Given the description of an element on the screen output the (x, y) to click on. 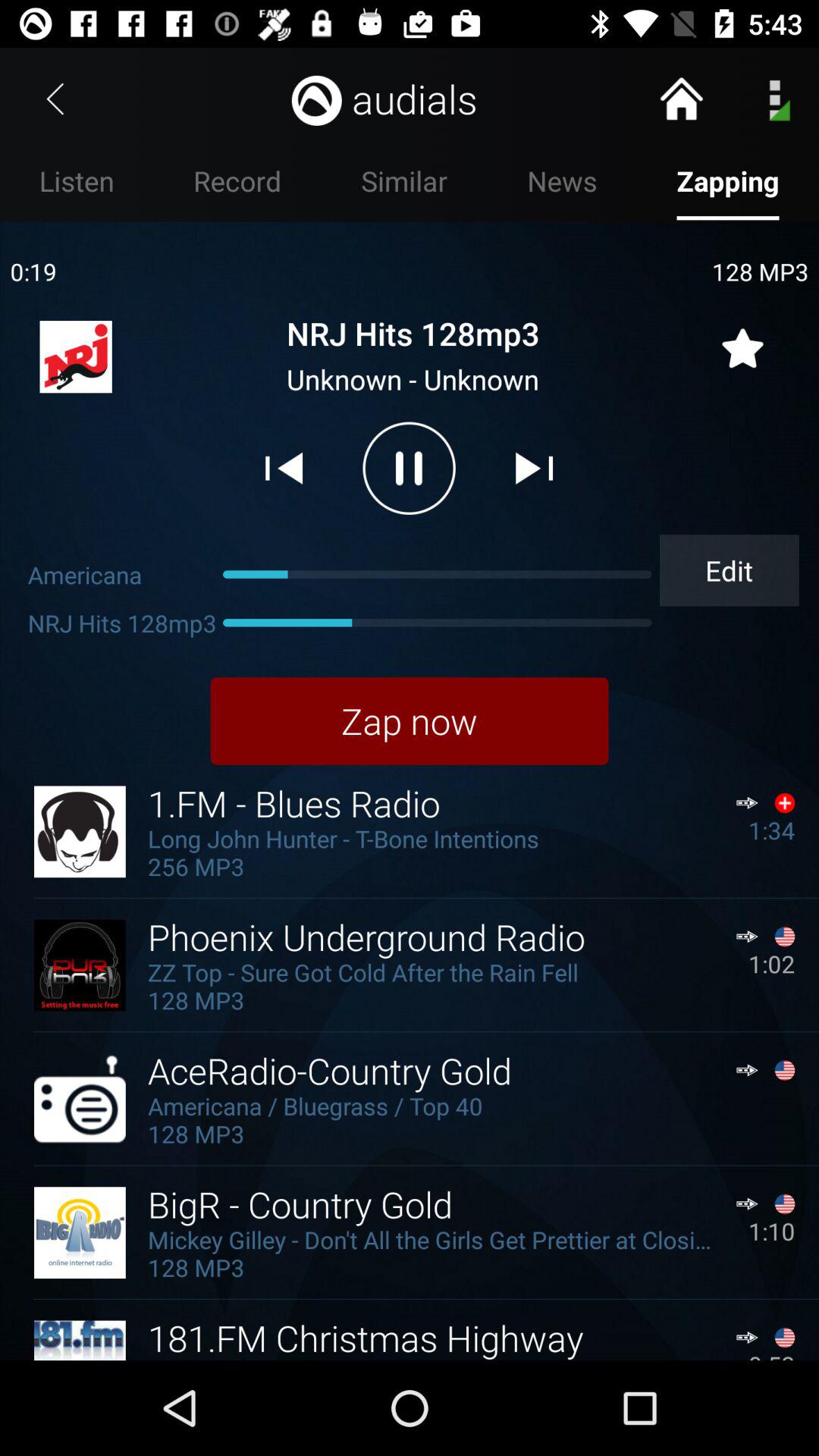
click on the last button in the menu bar (728, 185)
